Given the description of an element on the screen output the (x, y) to click on. 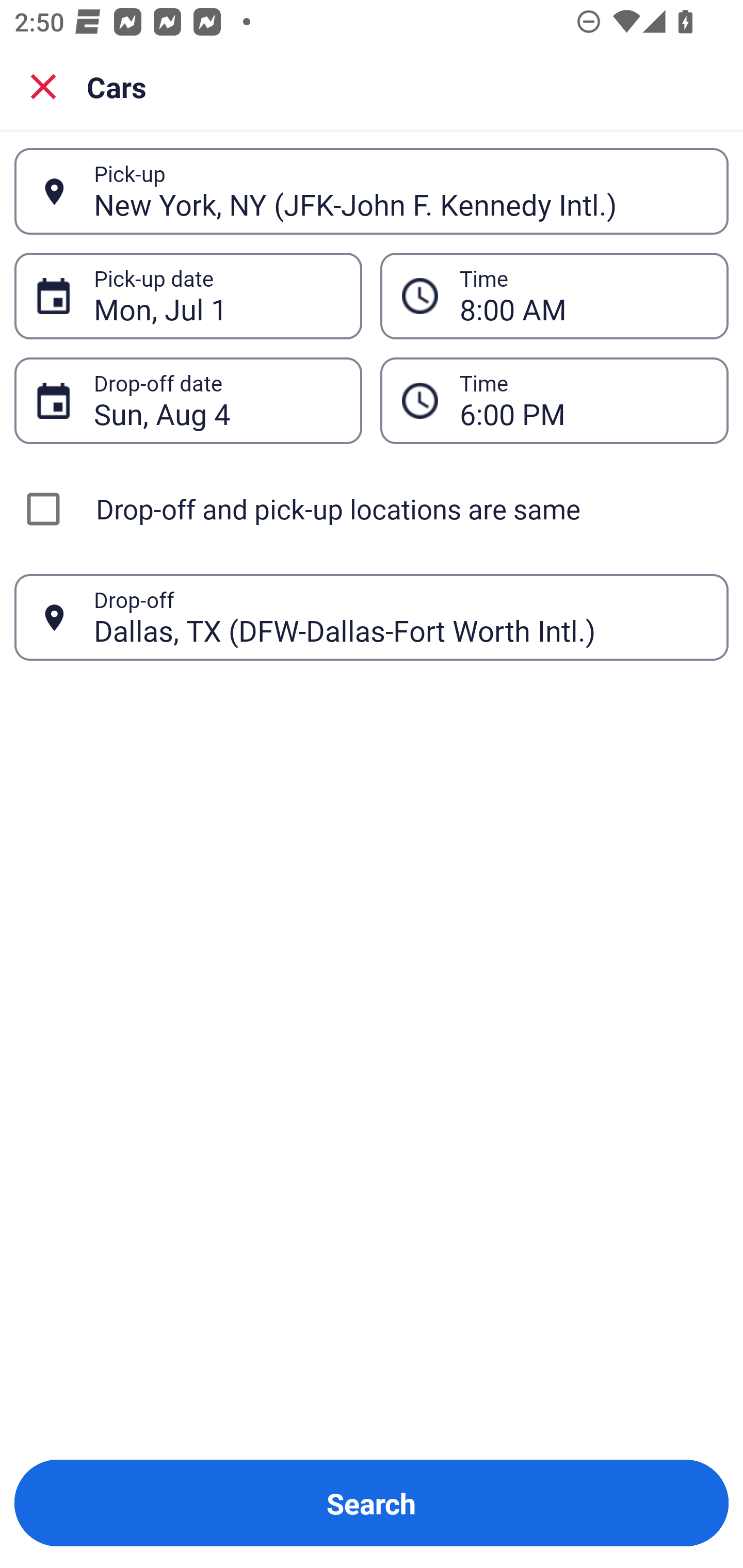
Close search screen (43, 86)
New York, NY (JFK-John F. Kennedy Intl.) Pick-up (371, 191)
New York, NY (JFK-John F. Kennedy Intl.) (399, 191)
Mon, Jul 1 Pick-up date (188, 295)
8:00 AM (554, 295)
Mon, Jul 1 (216, 296)
8:00 AM (582, 296)
Sun, Aug 4 Drop-off date (188, 400)
6:00 PM (554, 400)
Sun, Aug 4 (216, 400)
6:00 PM (582, 400)
Drop-off and pick-up locations are same (371, 508)
Dallas, TX (DFW-Dallas-Fort Worth Intl.) Drop-off (371, 616)
Dallas, TX (DFW-Dallas-Fort Worth Intl.) (399, 616)
Search Button Search (371, 1502)
